Given the description of an element on the screen output the (x, y) to click on. 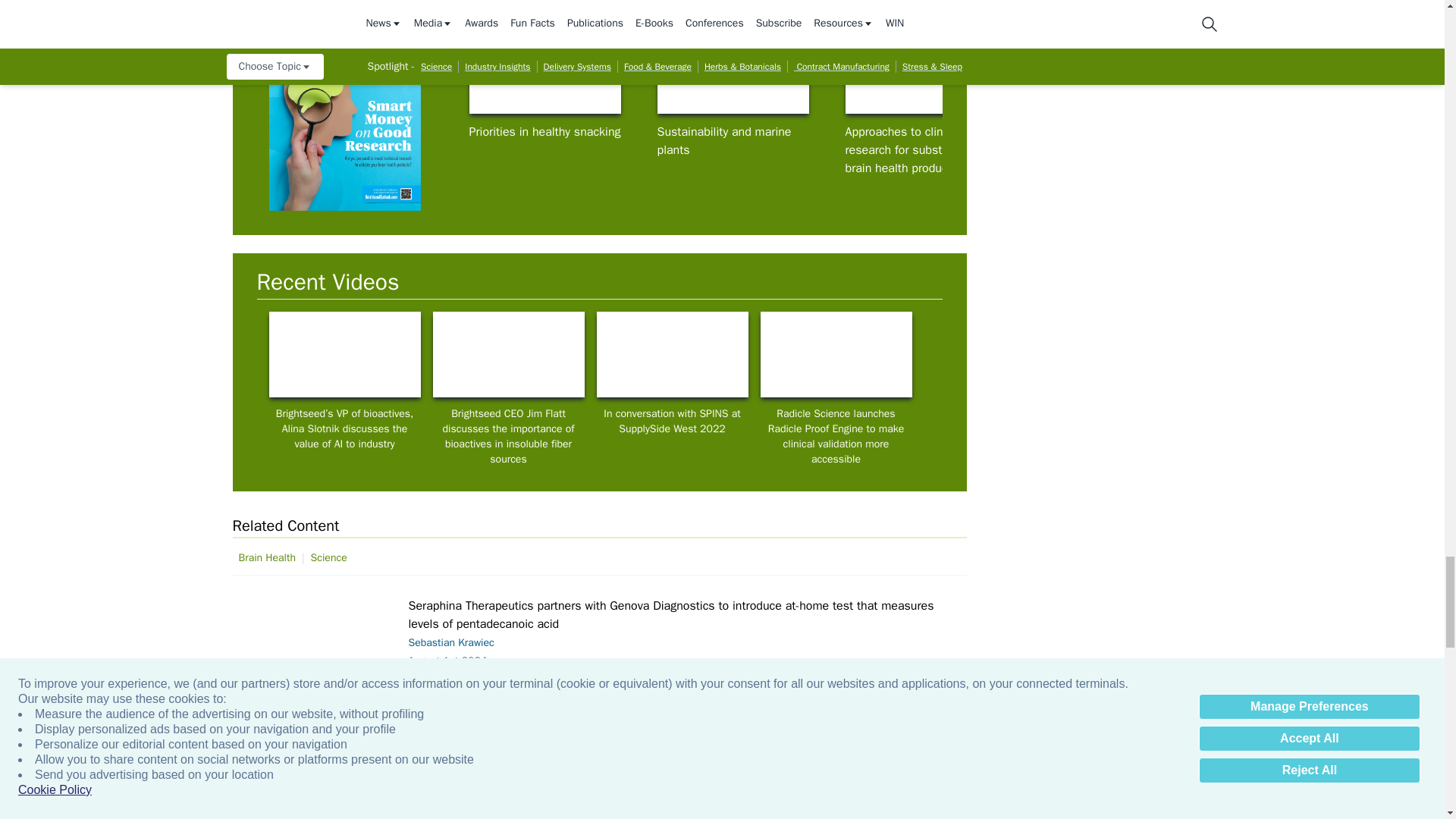
woman at desk snacking on nuts (544, 70)
In conversation with SPINS at SupplySide West 2022 (671, 354)
mitochondria (317, 659)
vitamin K2 (1108, 70)
seaweed illustration (732, 70)
woman working on laptop computer by window (835, 354)
